Given the description of an element on the screen output the (x, y) to click on. 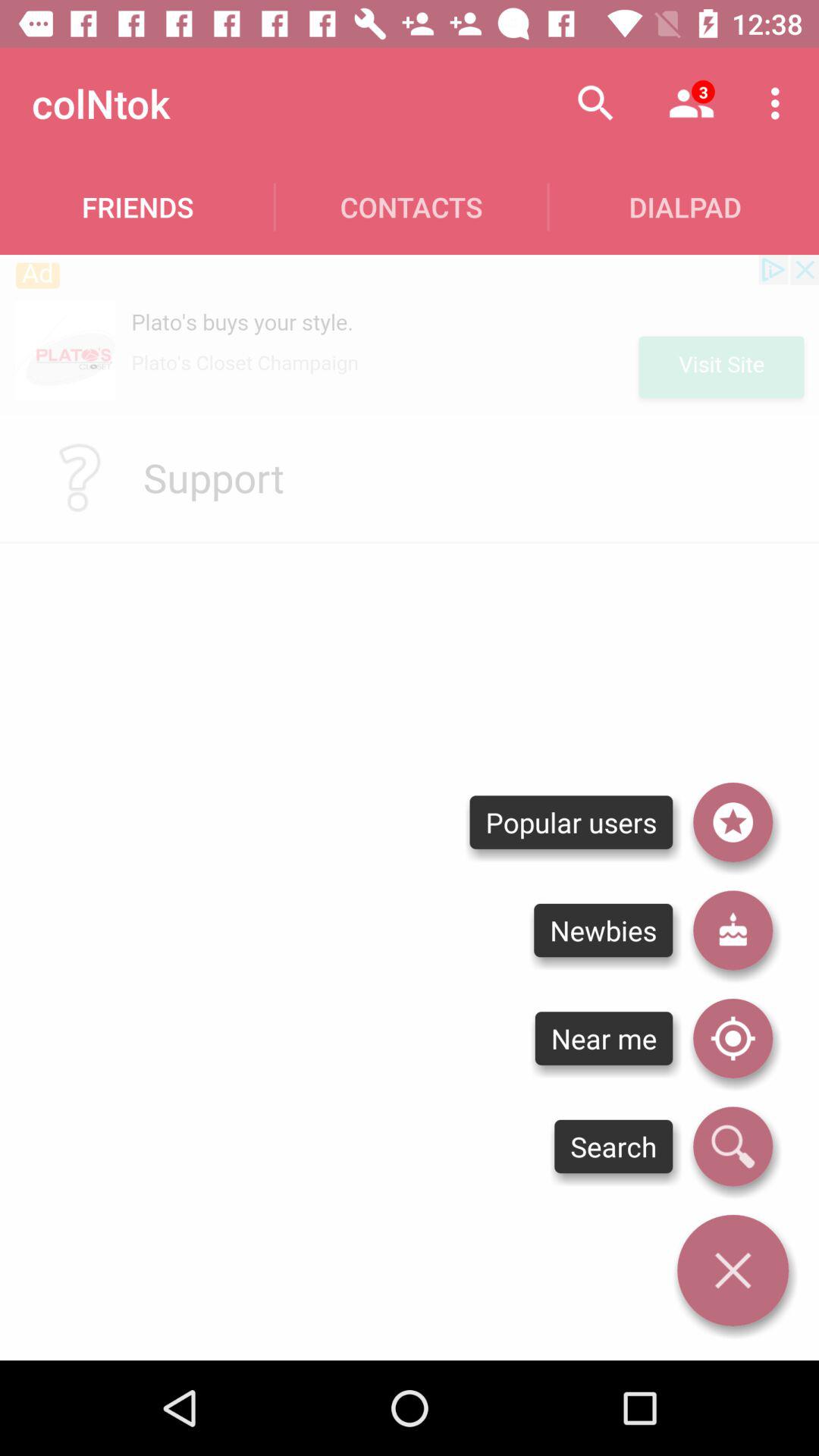
select popular users (733, 822)
